Given the description of an element on the screen output the (x, y) to click on. 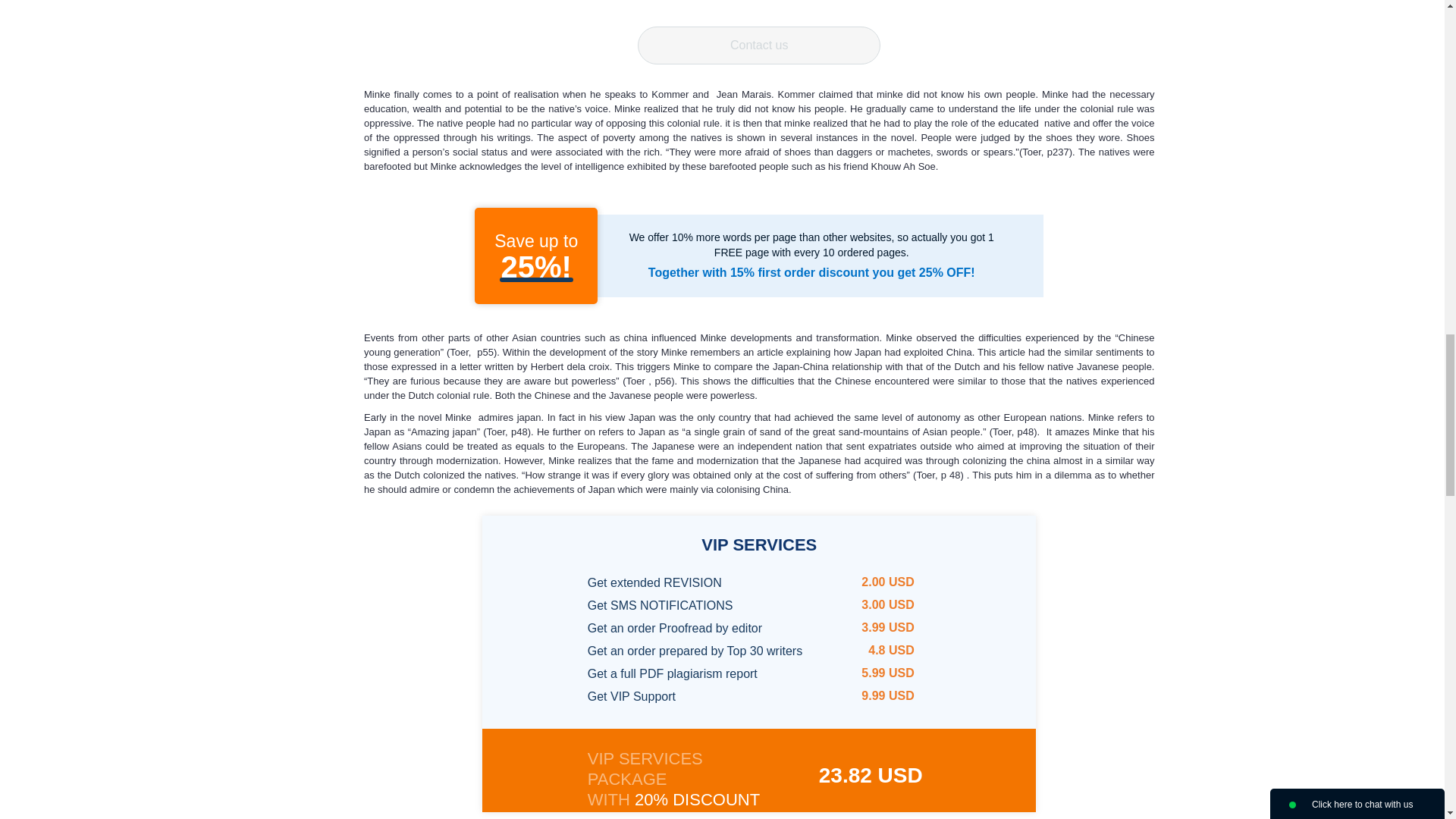
Contact us (758, 45)
